Given the description of an element on the screen output the (x, y) to click on. 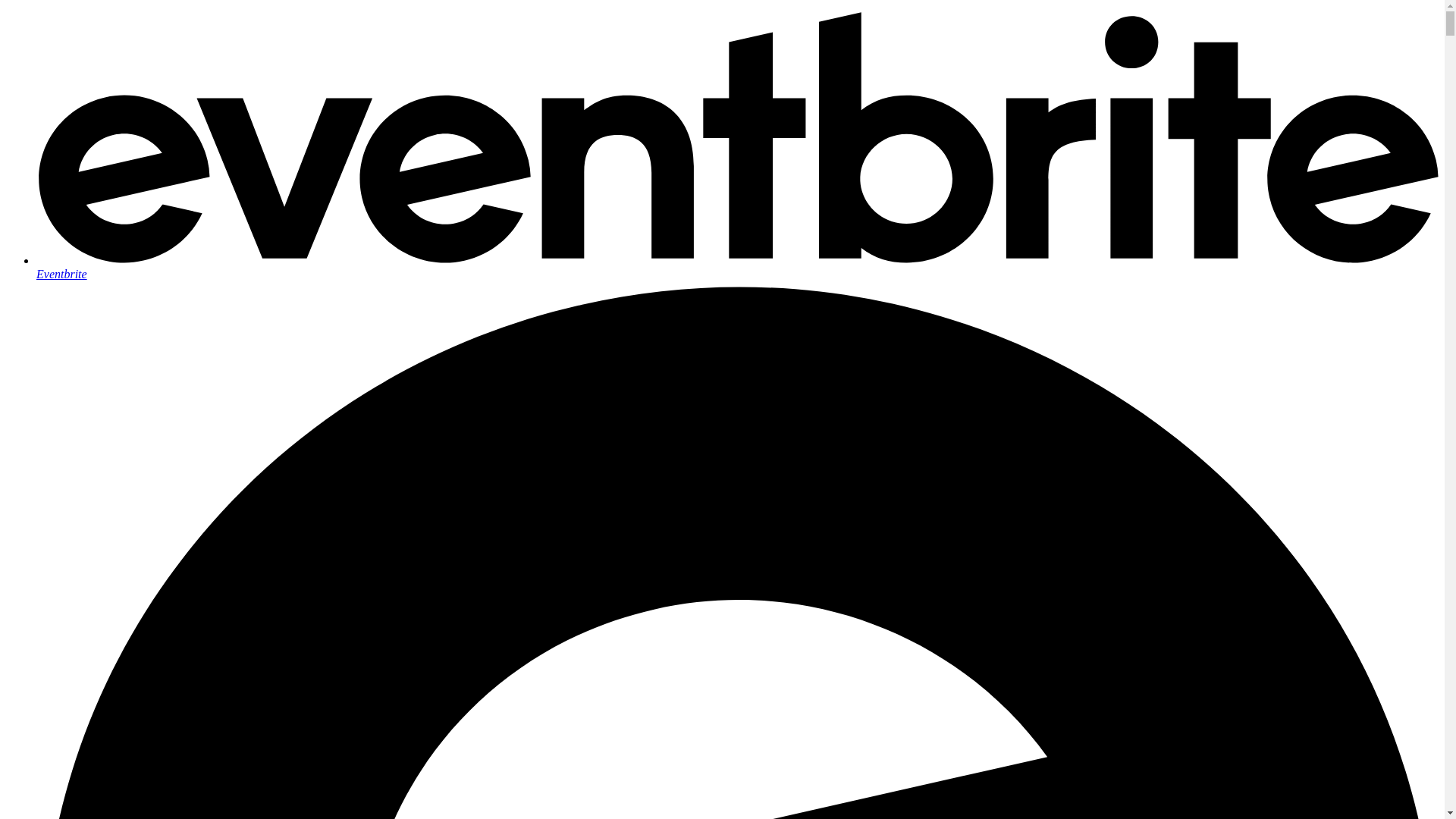
Eventbrite Element type: text (737, 267)
